Given the description of an element on the screen output the (x, y) to click on. 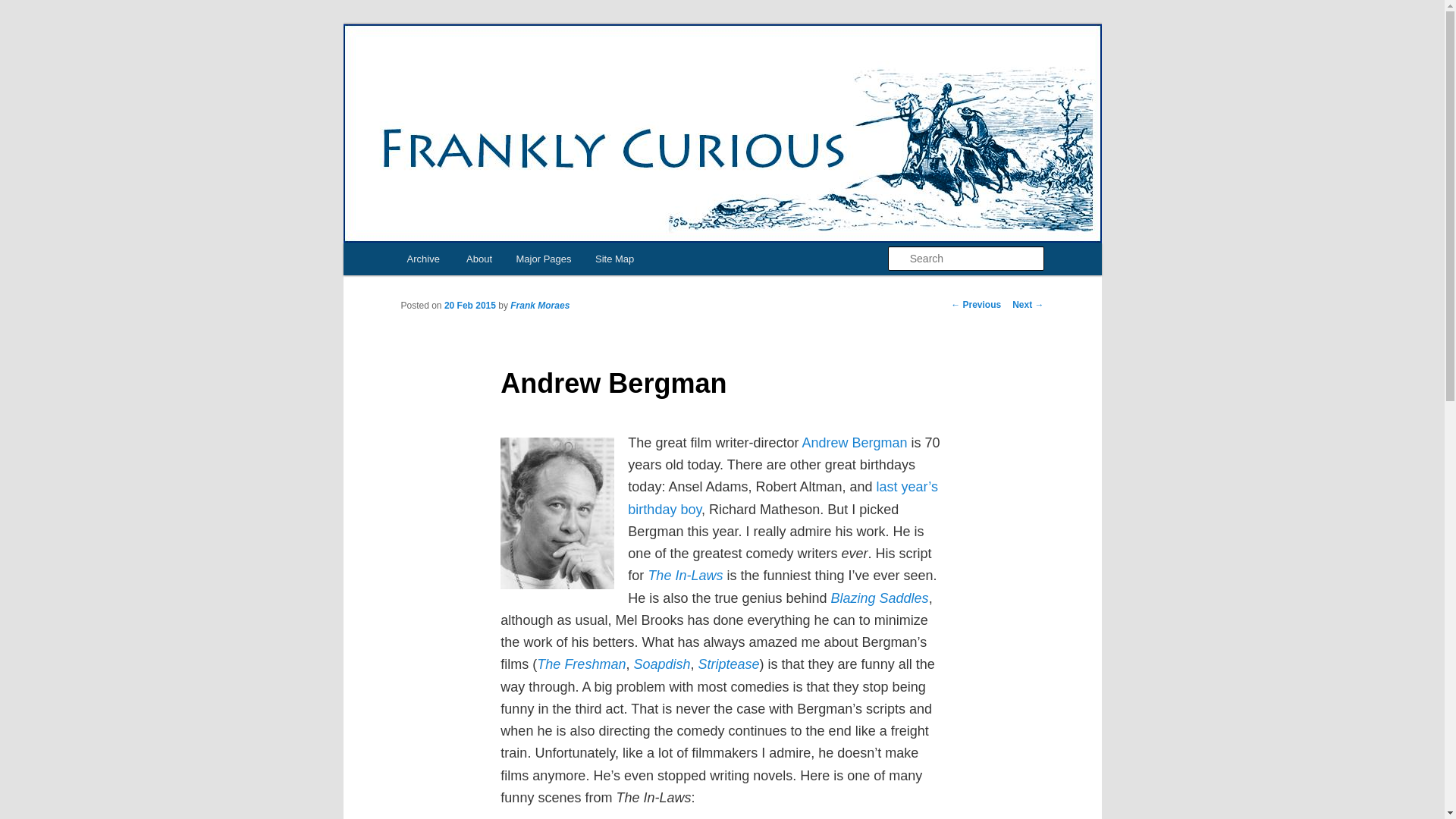
Site Map (614, 258)
Search (24, 8)
20 Feb 2015 (470, 305)
About Frankly Curious (478, 258)
12:05 am (470, 305)
Blazing Saddles (879, 598)
Striptease (727, 663)
View all posts by Frank Moraes (540, 305)
About (478, 258)
Frank Moraes (540, 305)
 Archive  (423, 258)
Archive (423, 258)
Andrew Bergman (854, 442)
Major Pages (543, 258)
